Given the description of an element on the screen output the (x, y) to click on. 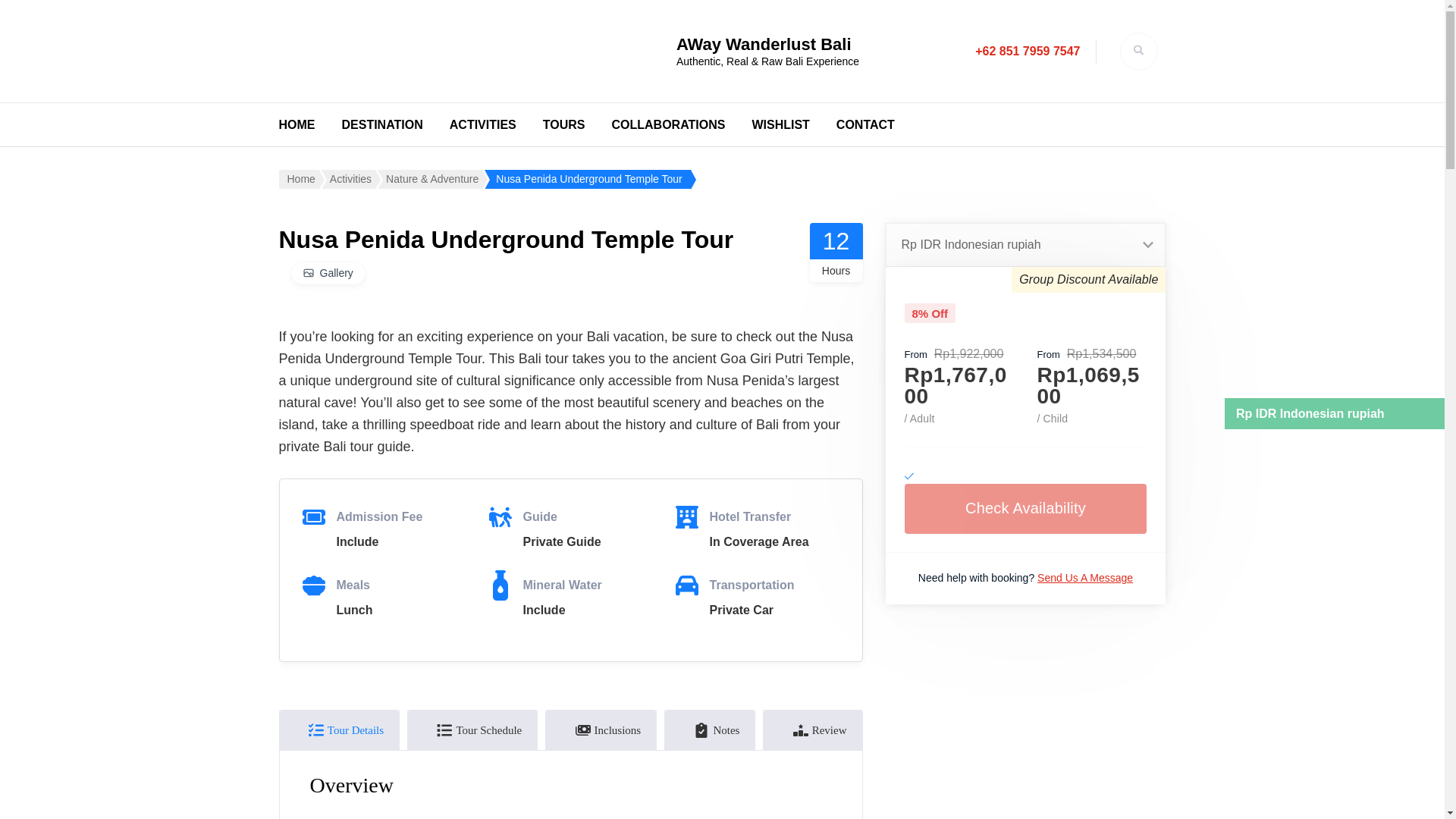
Tour Details (338, 730)
TOURS (564, 124)
Activities (348, 179)
Notes (709, 730)
WISHLIST (780, 124)
AWay Wanderlust Bali (764, 44)
DESTINATION (381, 124)
ACTIVITIES (482, 124)
HOME (297, 124)
Tour Schedule (472, 730)
Inclusions (601, 730)
COLLABORATIONS (668, 124)
CONTACT (865, 124)
Nusa Penida Underground Temple Tour (587, 179)
Home (298, 179)
